Given the description of an element on the screen output the (x, y) to click on. 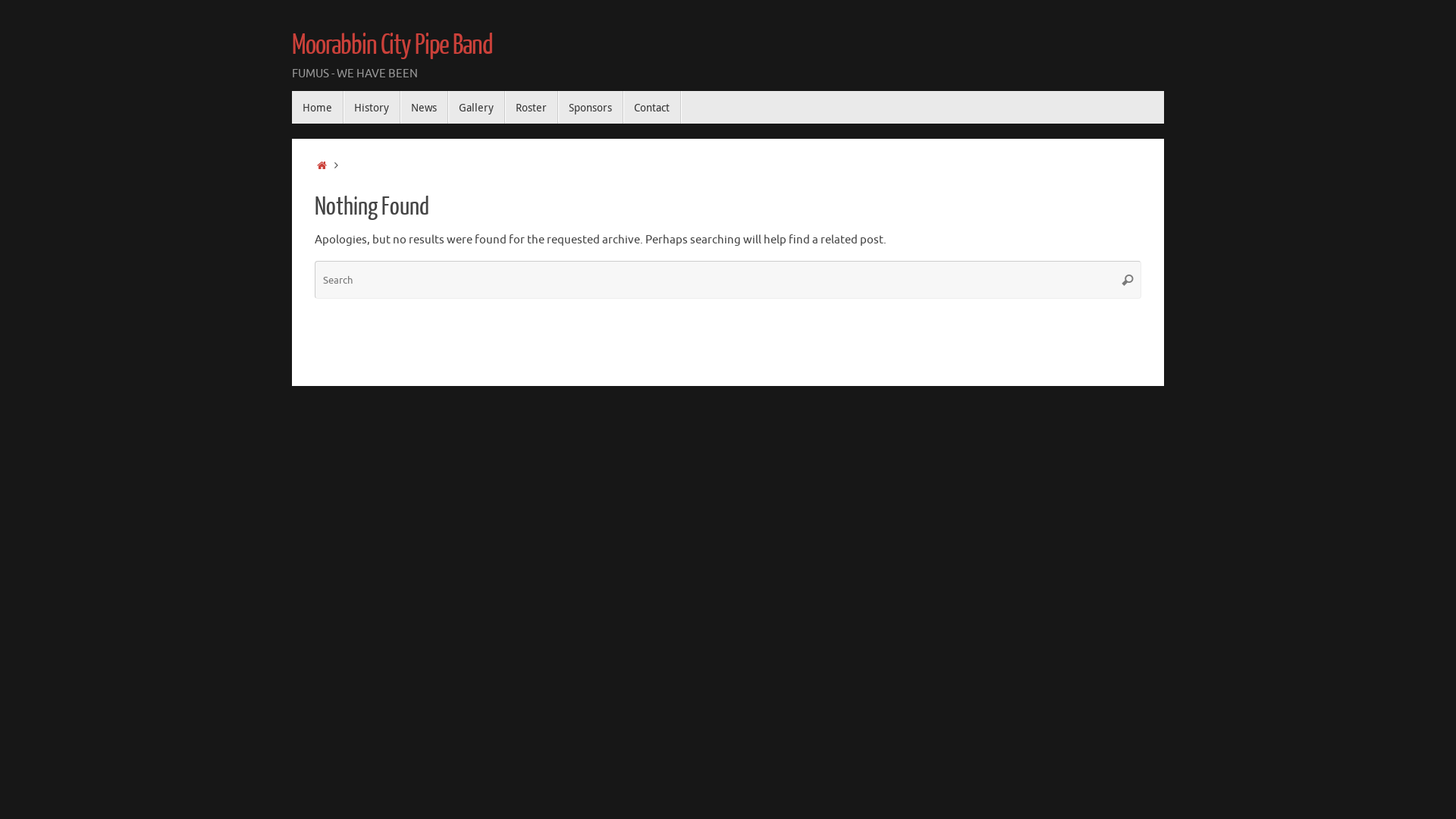
Gallery Element type: text (476, 107)
Home Element type: text (317, 107)
News Element type: text (424, 107)
Sponsors Element type: text (590, 107)
Roster Element type: text (531, 107)
Moorabbin City Pipe Band Element type: text (391, 46)
History Element type: text (371, 107)
Contact Element type: text (651, 107)
